Given the description of an element on the screen output the (x, y) to click on. 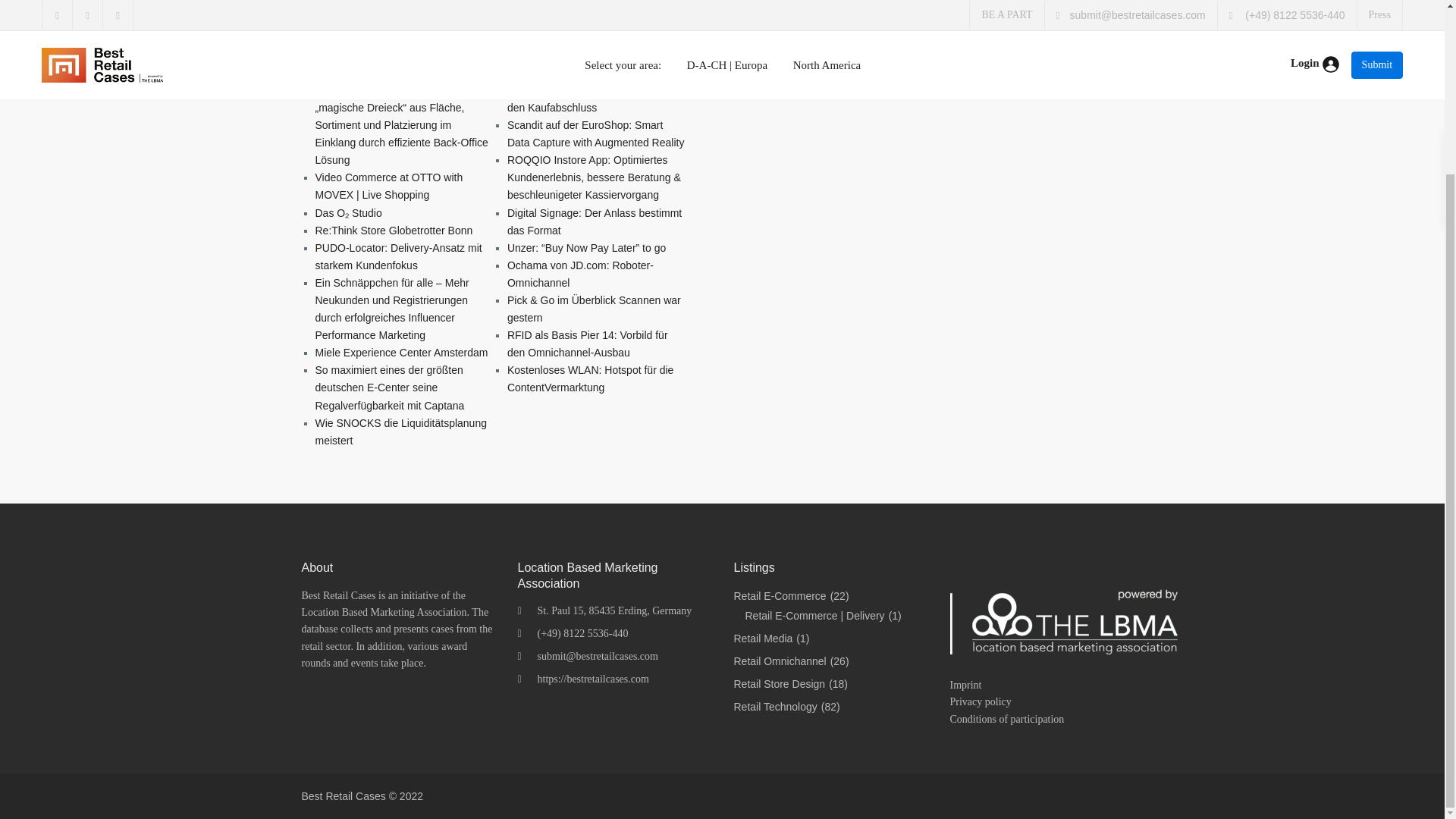
Re:Think Store Globetrotter Bonn (394, 230)
Miele Experience Center Amsterdam (401, 352)
PUDO-Locator: Delivery-Ansatz mit starkem Kundenfokus (398, 256)
